Given the description of an element on the screen output the (x, y) to click on. 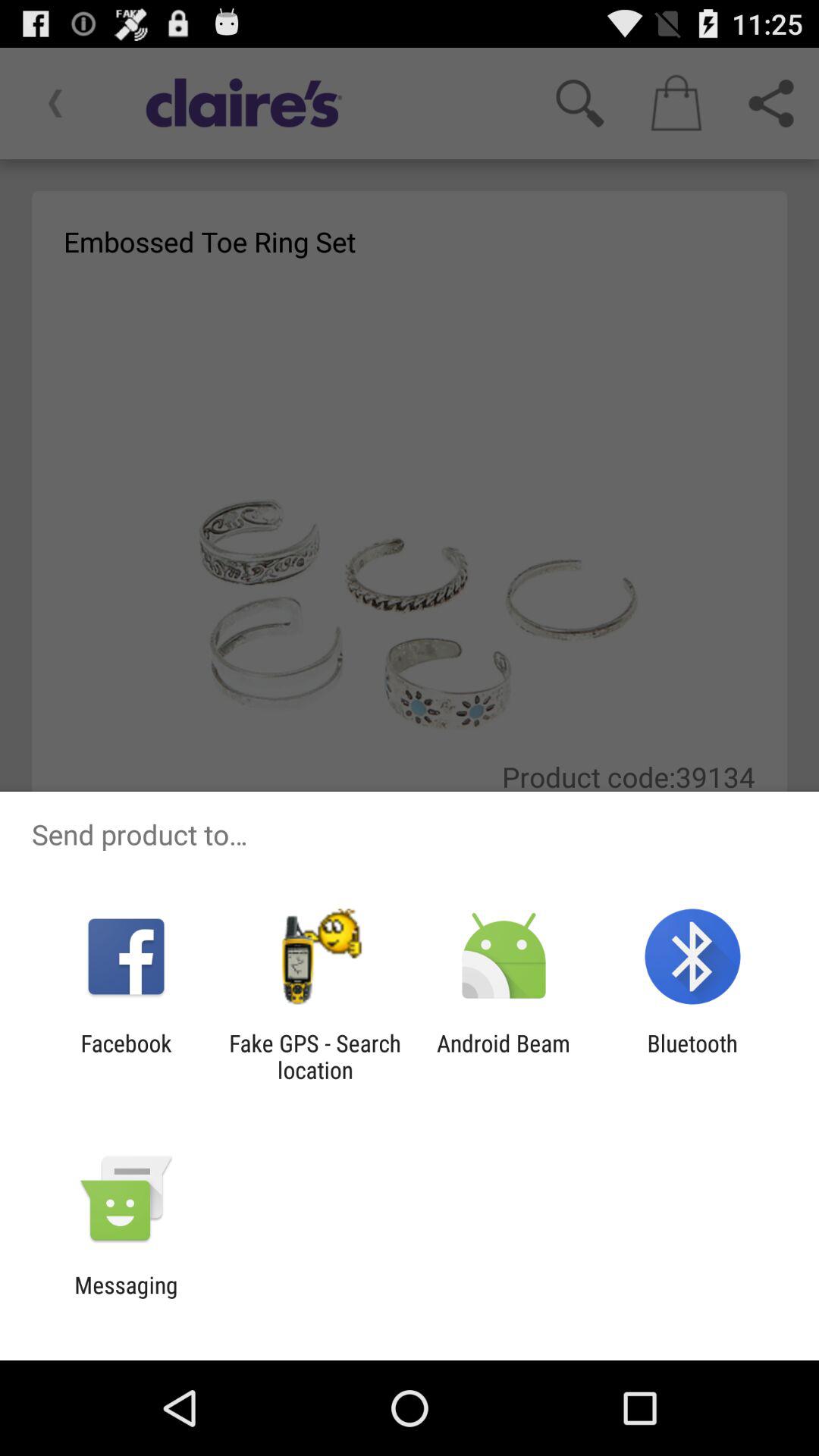
choose icon to the right of the fake gps search (503, 1056)
